Given the description of an element on the screen output the (x, y) to click on. 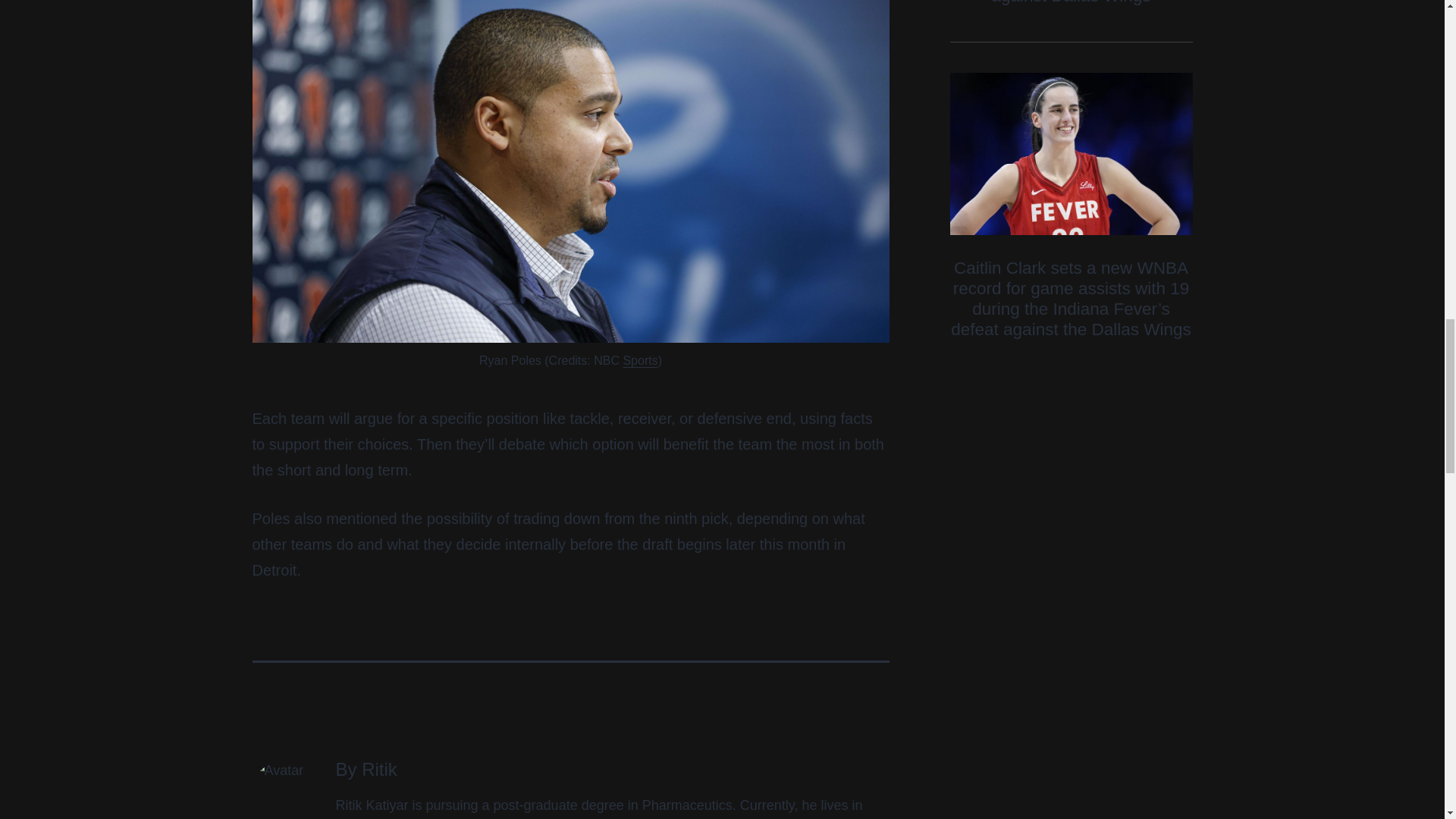
Sports (640, 359)
